Given the description of an element on the screen output the (x, y) to click on. 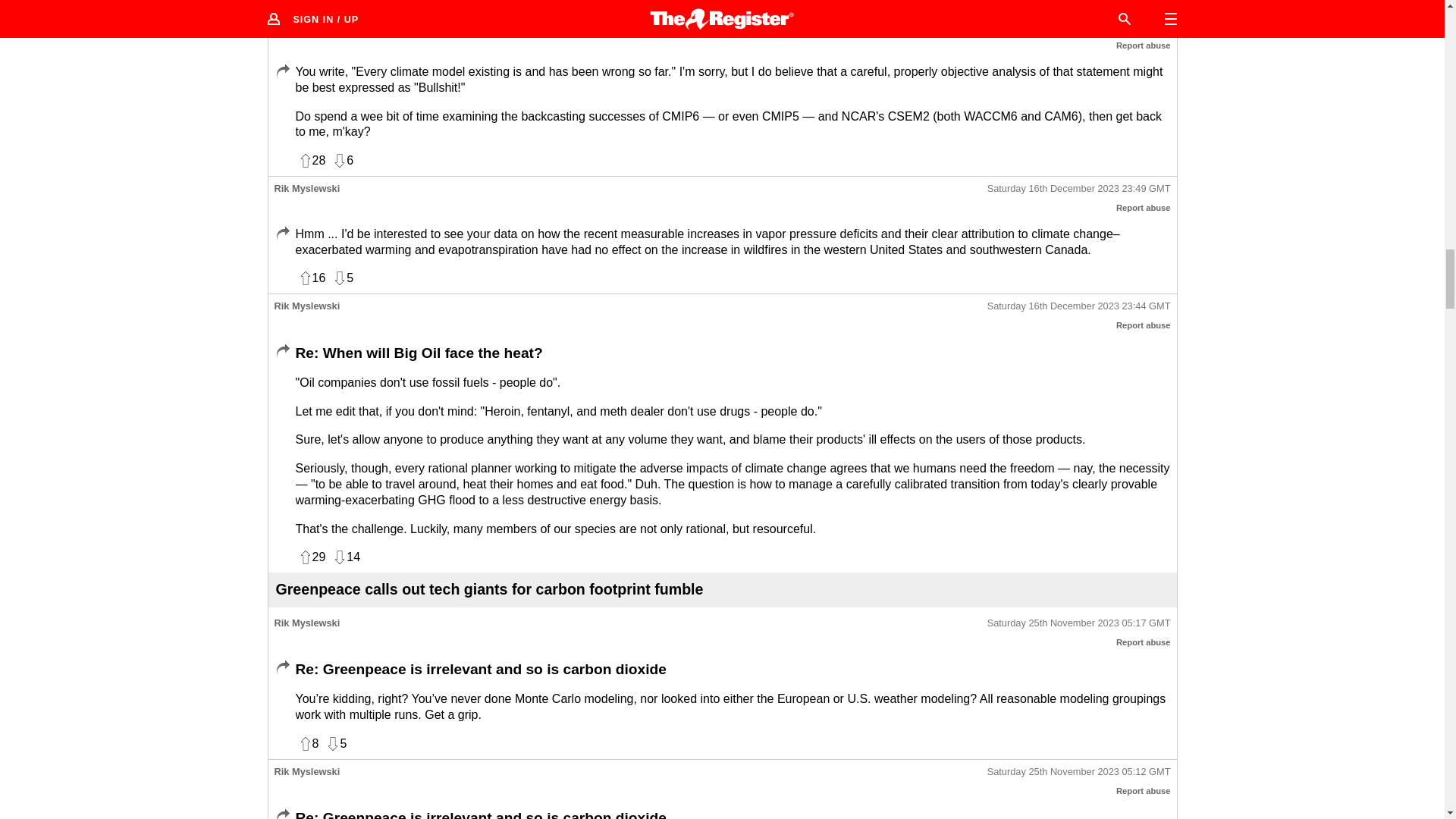
Report abuse (1143, 44)
